Given the description of an element on the screen output the (x, y) to click on. 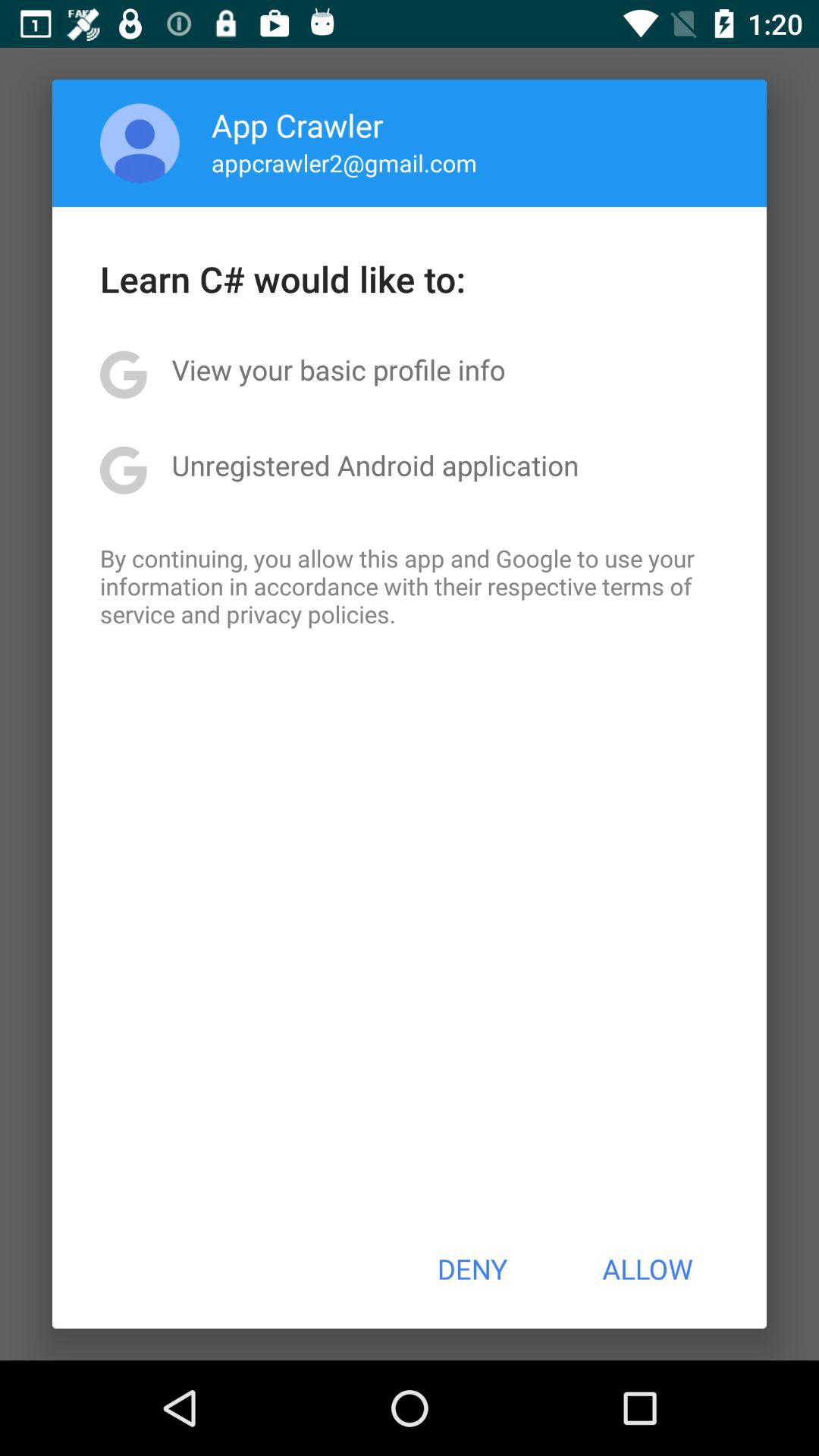
scroll to the view your basic (338, 369)
